Given the description of an element on the screen output the (x, y) to click on. 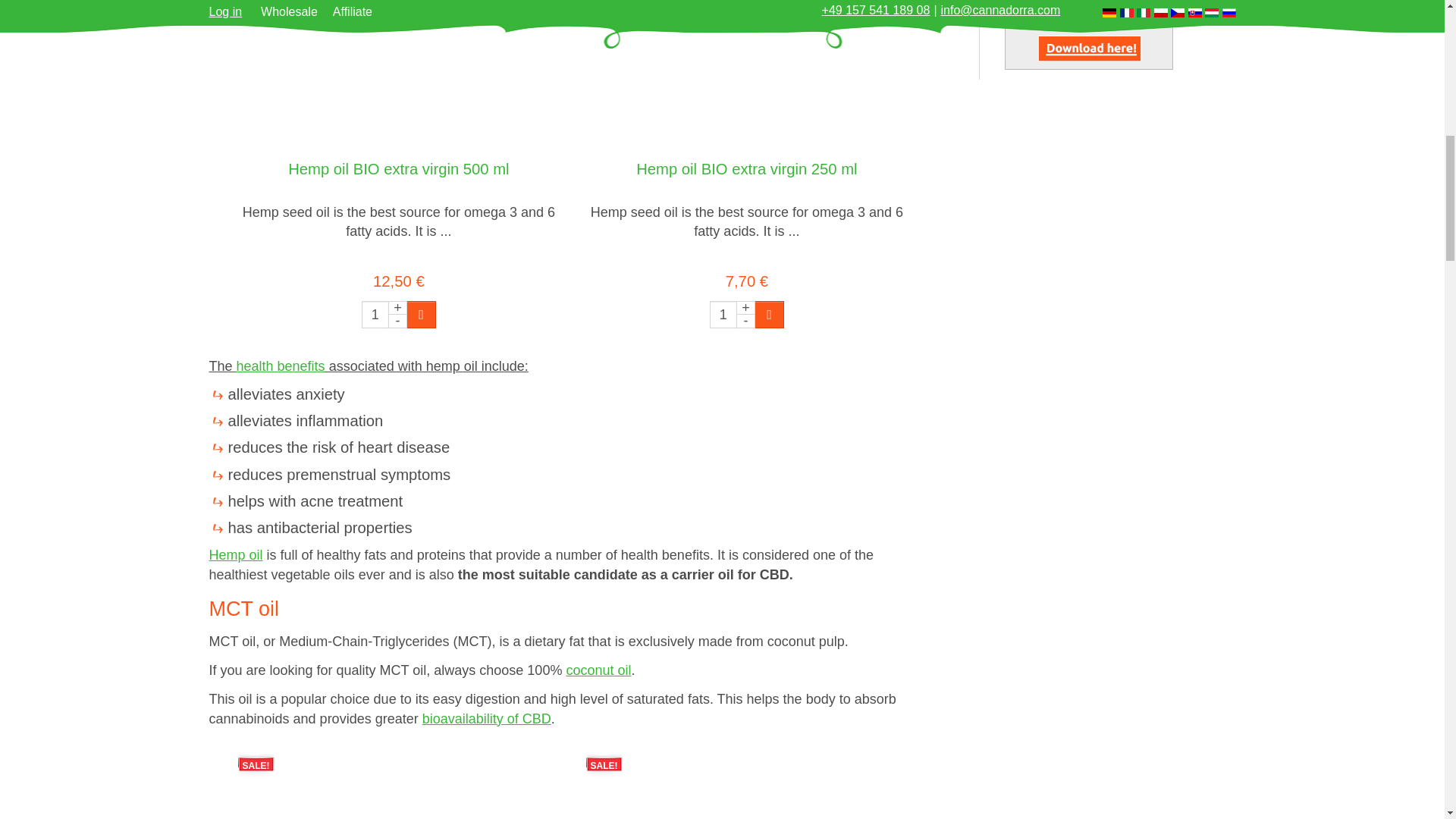
1 (374, 314)
- (397, 320)
- (745, 320)
1 (723, 314)
